Given the description of an element on the screen output the (x, y) to click on. 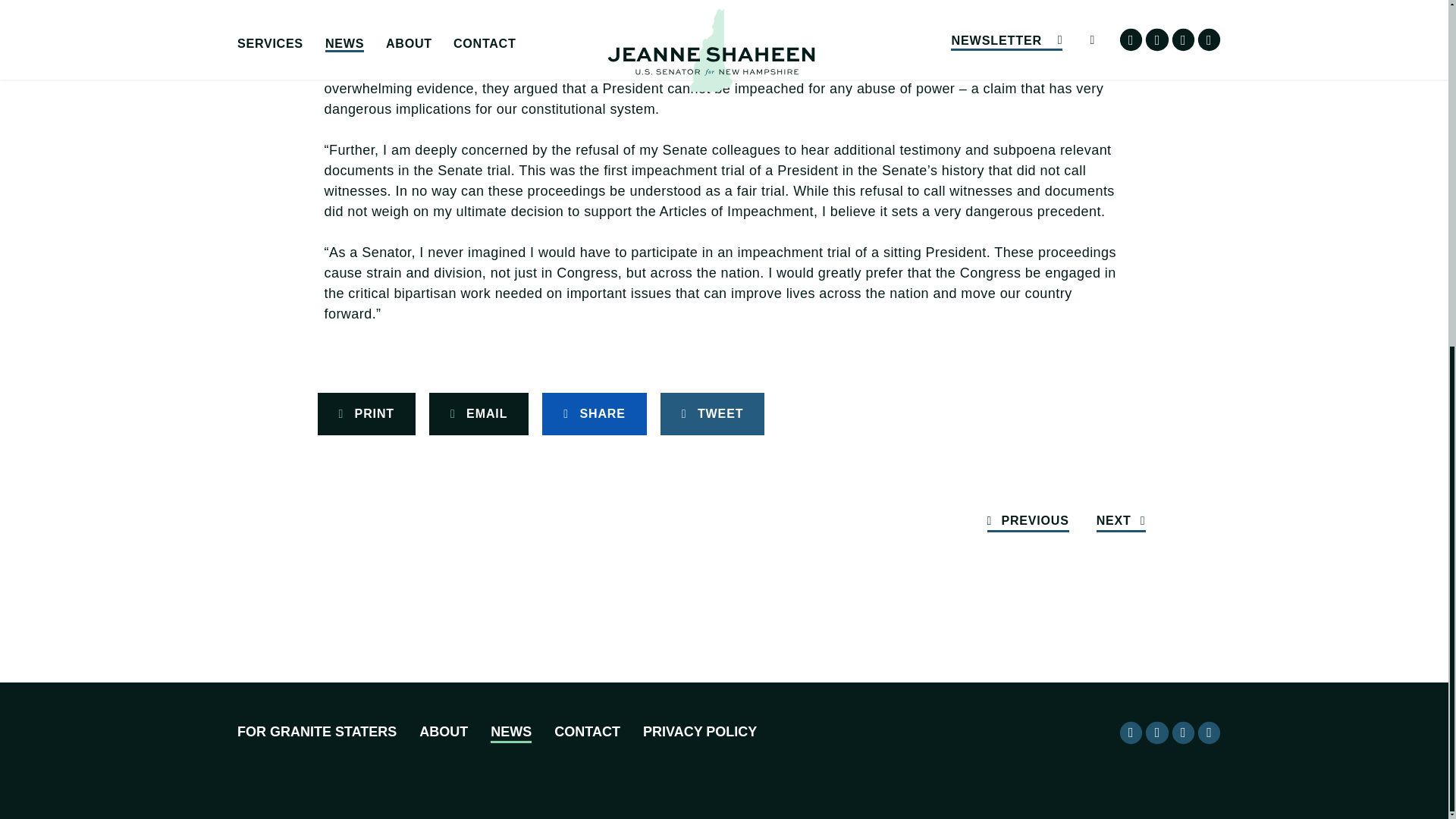
Privacy Policy (700, 732)
About (443, 732)
Contact (587, 732)
For Granite Staters (316, 732)
News (510, 732)
